Given the description of an element on the screen output the (x, y) to click on. 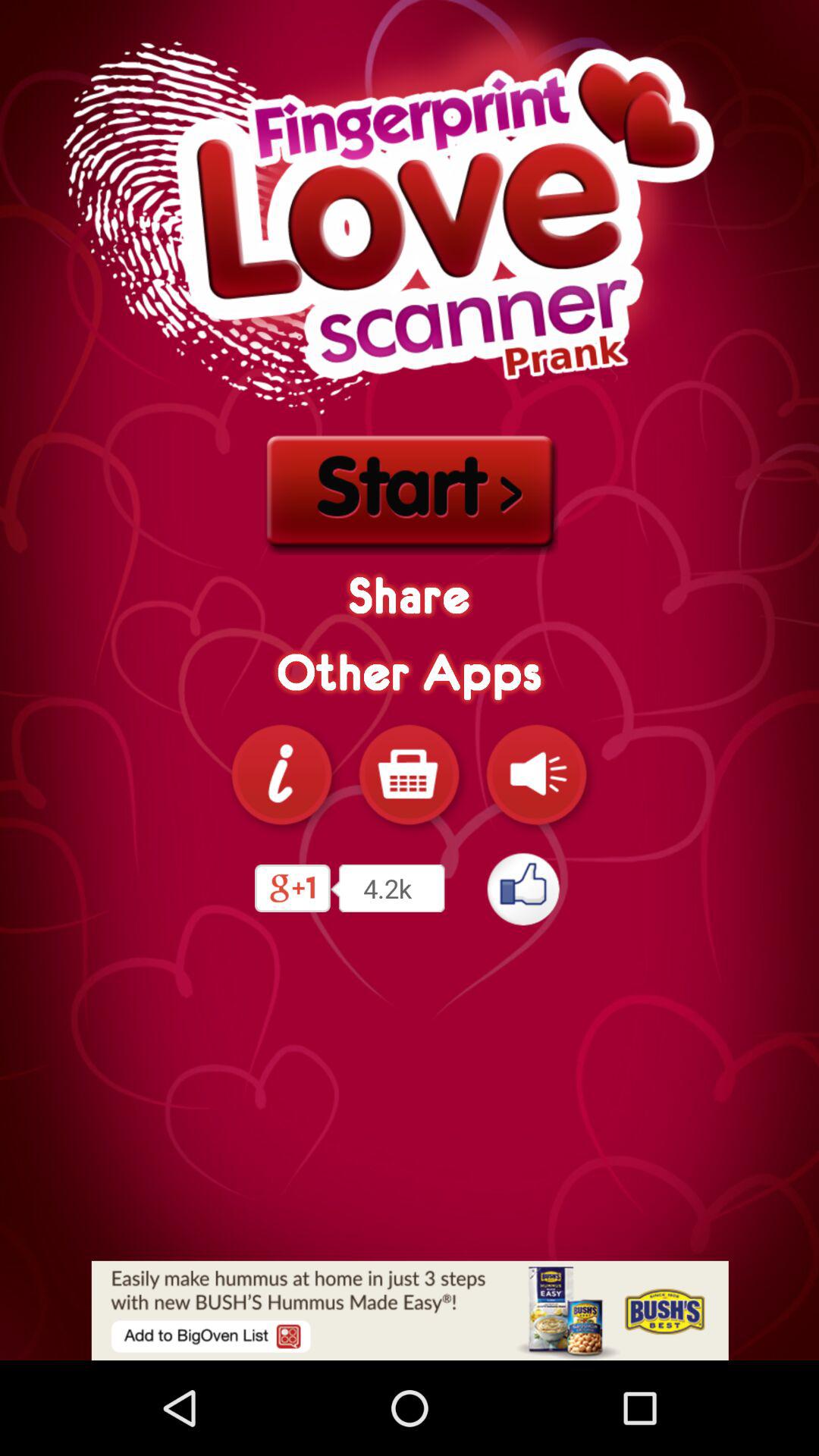
click to like (524, 888)
